Given the description of an element on the screen output the (x, y) to click on. 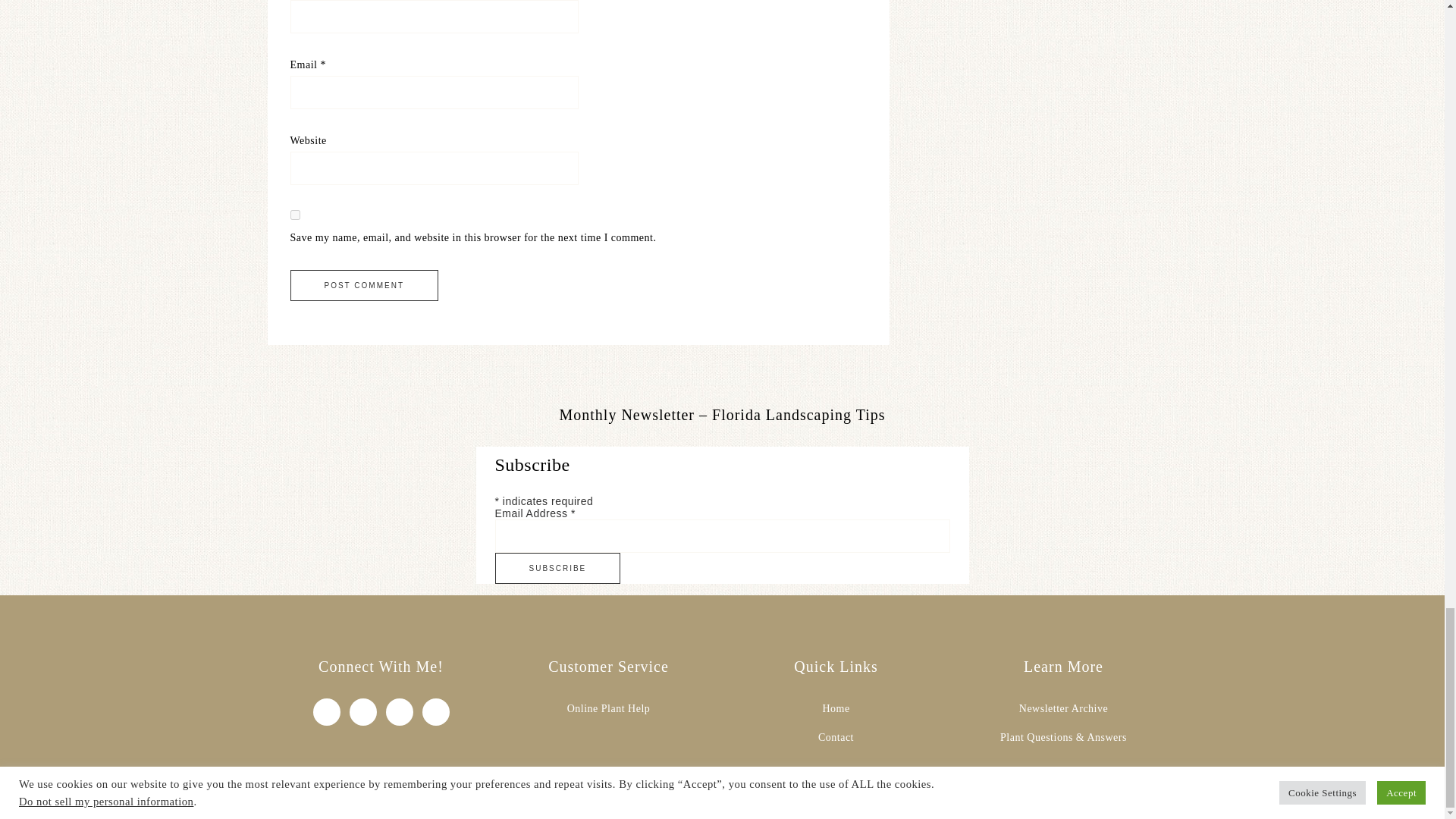
Subscribe (557, 567)
yes (294, 214)
Post Comment (363, 285)
Post Comment (363, 285)
